Given the description of an element on the screen output the (x, y) to click on. 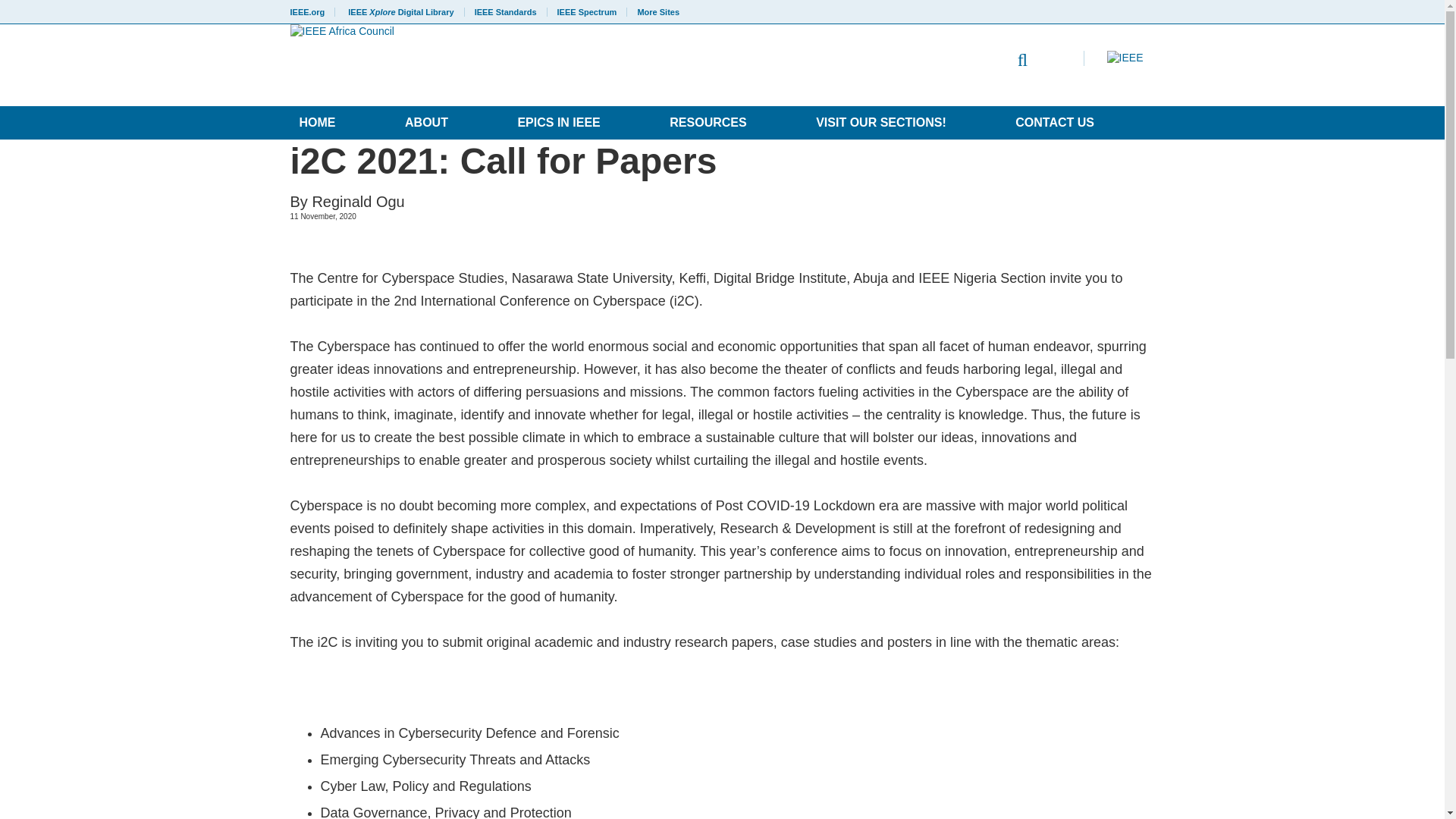
More Sites (653, 11)
IEEE.org (311, 11)
EPICS IN IEEE (558, 122)
IEEE Africa Council (536, 65)
IEEE Xplore Digital Library (400, 11)
IEEE Spectrum (587, 11)
RESOURCES (708, 122)
IEEE Standards (505, 11)
VISIT OUR SECTIONS! (880, 122)
ABOUT (426, 122)
HOME (316, 122)
CONTACT US (1054, 122)
